Given the description of an element on the screen output the (x, y) to click on. 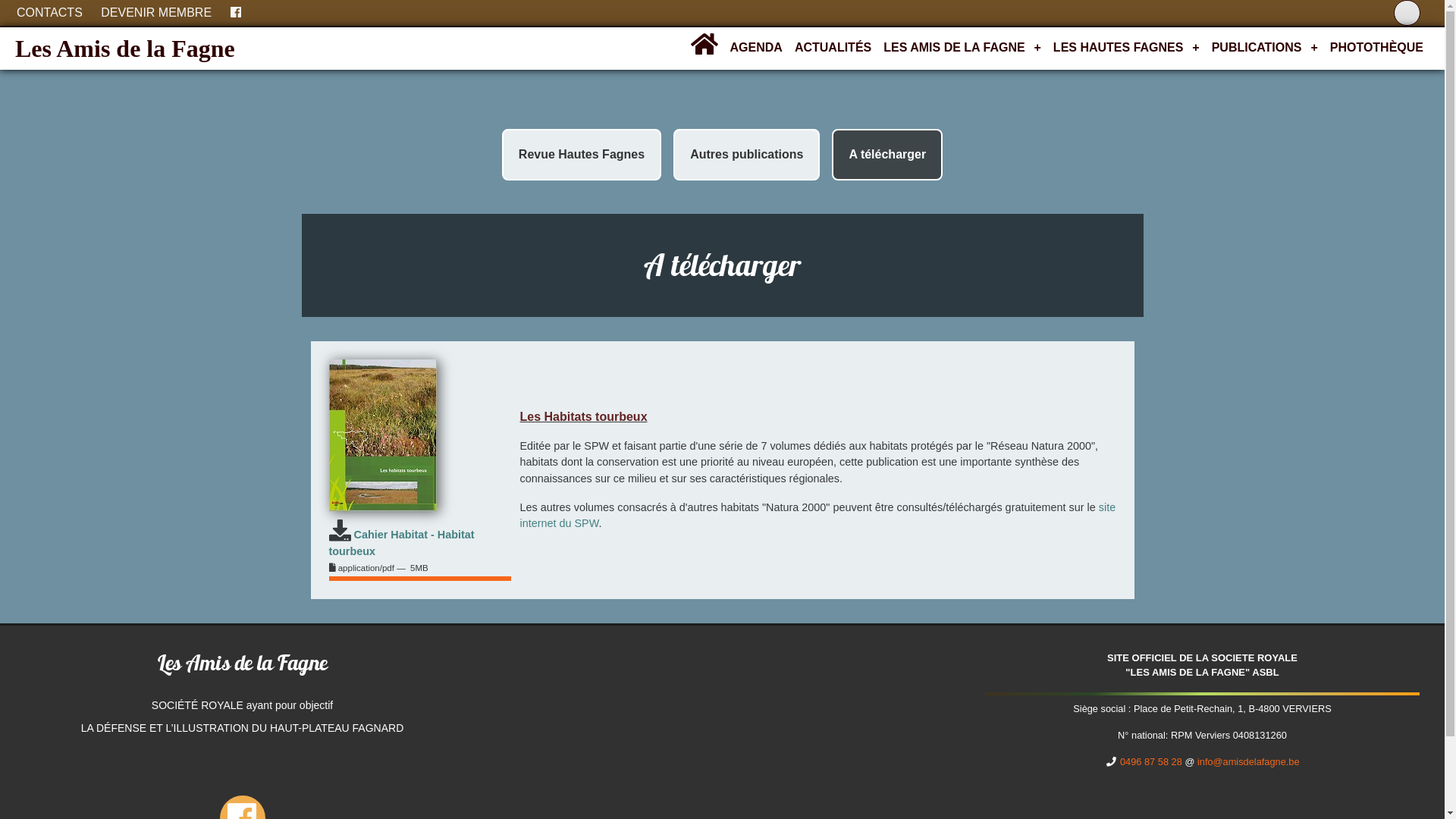
Les Amis de la Fagne Element type: text (125, 48)
info@amisdelafagne.be Element type: text (1248, 761)
site internet du SPW Element type: text (818, 515)
LES AMIS DE LA FAGNE  + Element type: text (962, 47)
CONTACTS Element type: text (49, 12)
Cahier Habitat - Habitat tourbeux Element type: text (401, 542)
Autres publications Element type: text (746, 154)
LES HAUTES FAGNES  + Element type: text (1126, 47)
DEVENIR MEMBRE Element type: text (155, 12)
PUBLICATIONS  + Element type: text (1264, 47)
Revue Hautes Fagnes Element type: text (581, 154)
AGENDA Element type: text (756, 47)
